Given the description of an element on the screen output the (x, y) to click on. 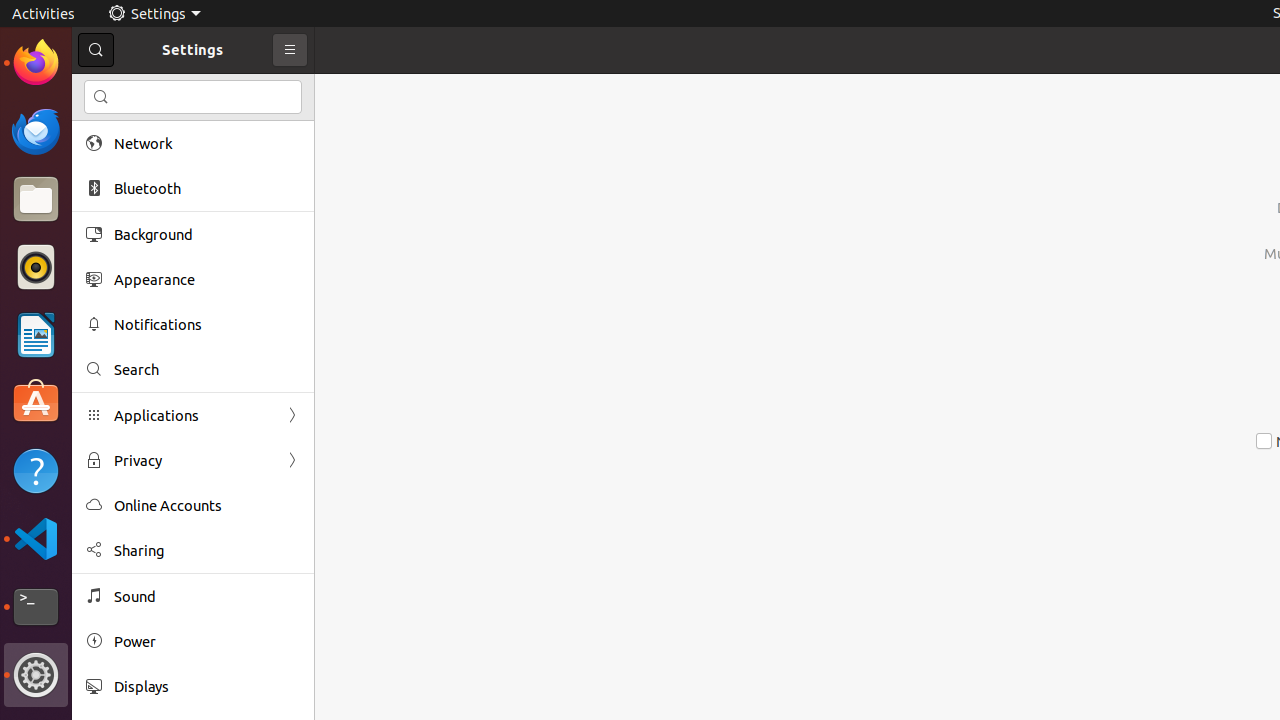
Settings Element type: menu (154, 13)
Terminal Element type: push-button (36, 607)
Settings Element type: push-button (36, 675)
Primary Menu Element type: toggle-button (290, 50)
